Given the description of an element on the screen output the (x, y) to click on. 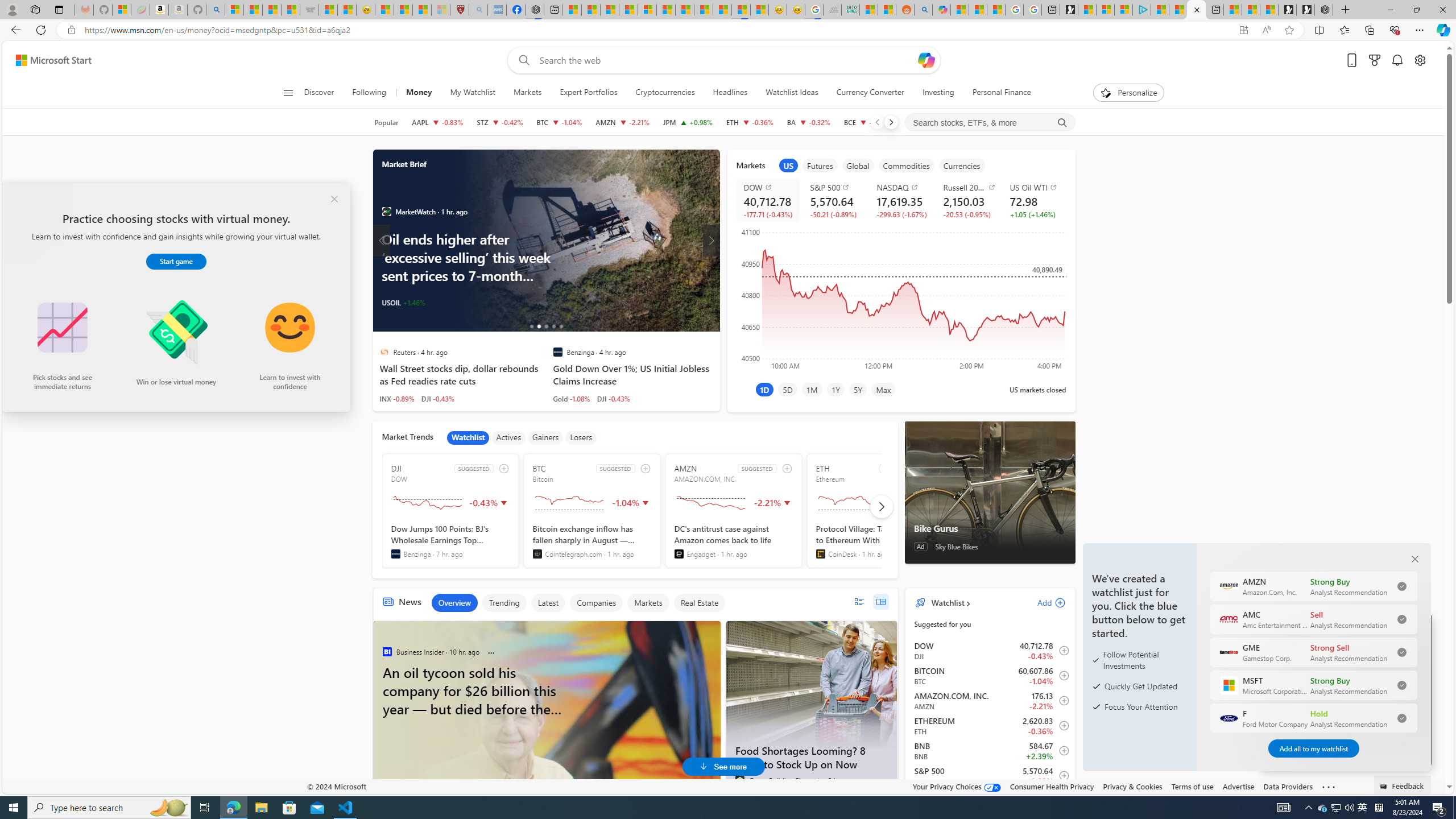
Cryptocurrencies (665, 92)
BCE BCE Inc decrease 34.55 -0.08 -0.22% (866, 122)
BA THE BOEING COMPANY decrease 172.87 -0.56 -0.32% (808, 122)
My Watchlist (472, 92)
Losers (580, 437)
Actives (508, 437)
add to watchlist (785, 468)
Benzinga (395, 553)
